Given the description of an element on the screen output the (x, y) to click on. 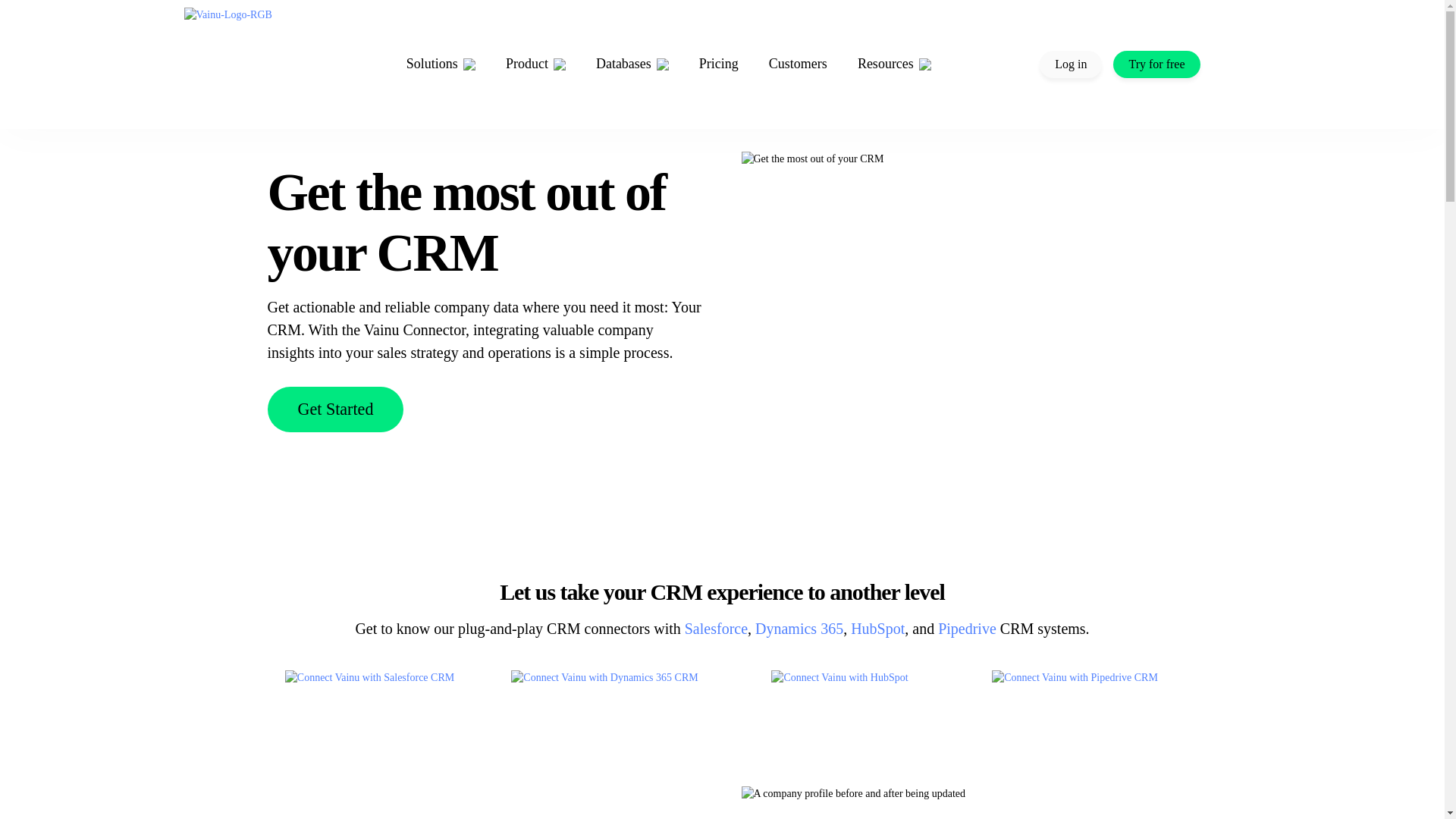
Customers (797, 63)
Resources (894, 63)
Vainu-Logo-RGB (240, 64)
Pricing (718, 63)
Databases (631, 63)
Solutions (441, 63)
Product (535, 63)
